Given the description of an element on the screen output the (x, y) to click on. 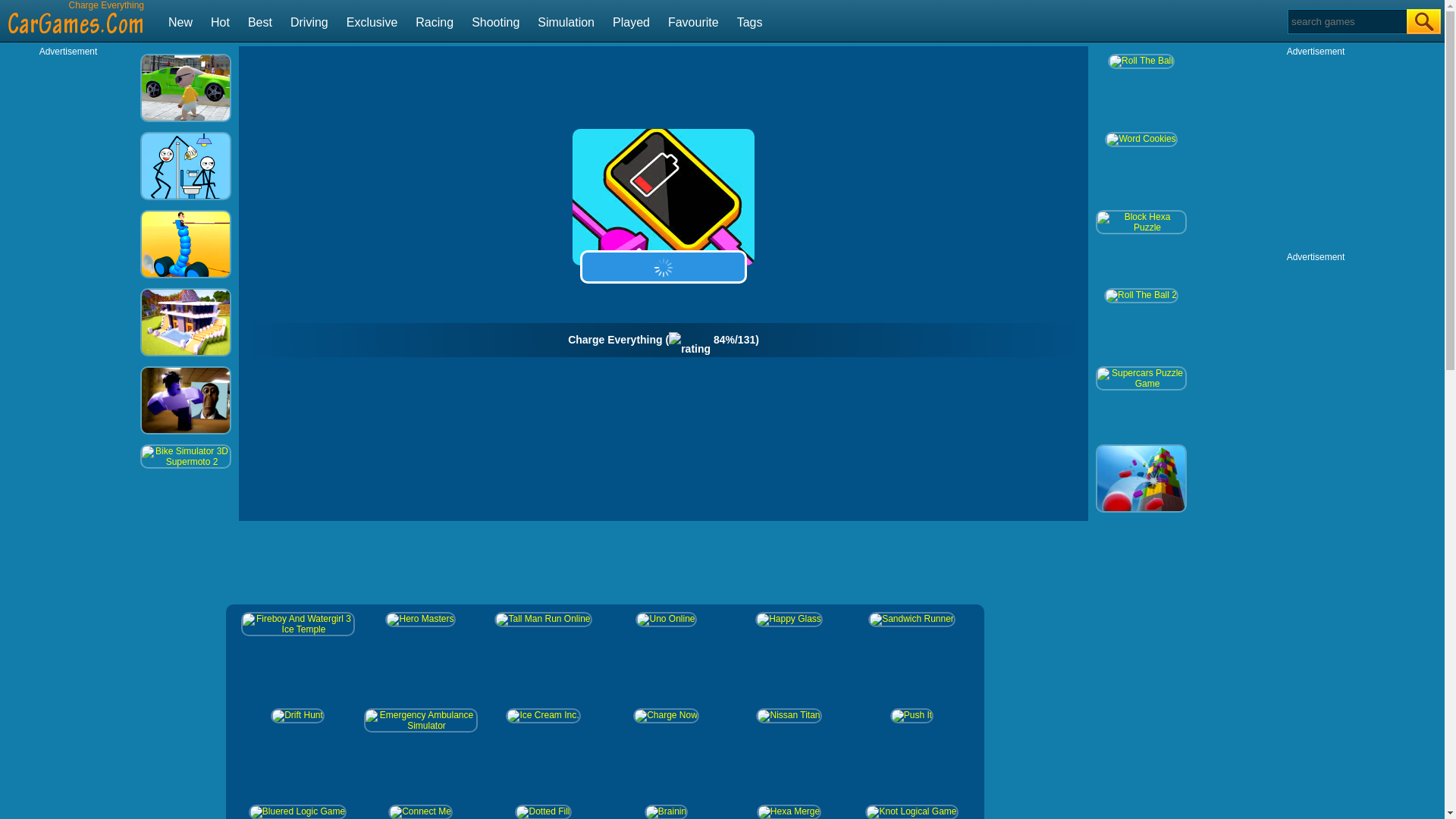
Hot (220, 21)
Shooting (495, 21)
Exclusive (371, 21)
Played (630, 21)
Racing (433, 21)
Favourite (693, 21)
Simulation (565, 21)
Tags (749, 21)
Driving (309, 21)
Best (259, 21)
